Given the description of an element on the screen output the (x, y) to click on. 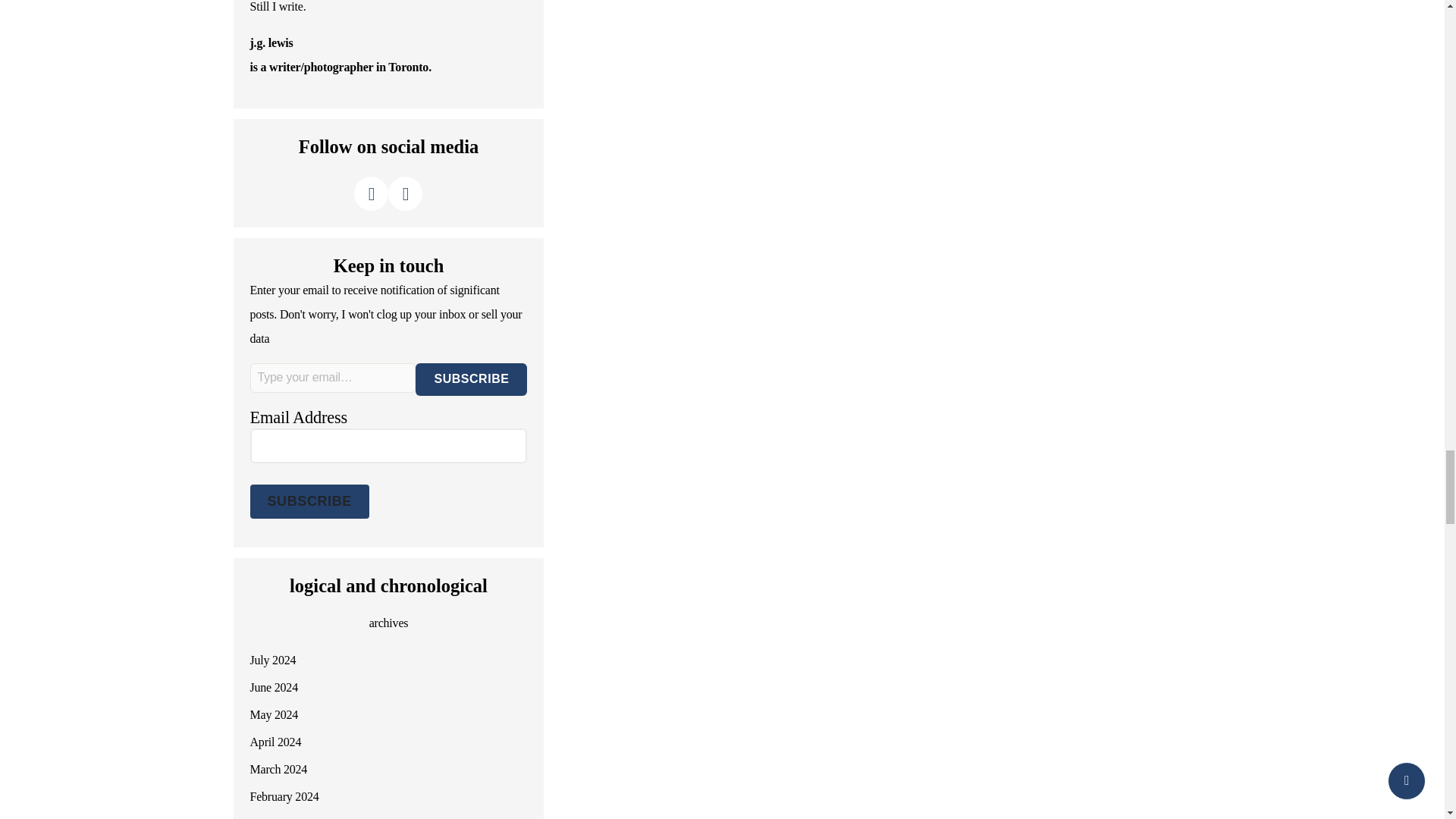
July 2024 (273, 659)
April 2024 (275, 741)
SUBSCRIBE (309, 501)
May 2024 (274, 714)
January 2024 (281, 818)
March 2024 (278, 768)
February 2024 (284, 796)
SUBSCRIBE (470, 379)
June 2024 (274, 686)
